Given the description of an element on the screen output the (x, y) to click on. 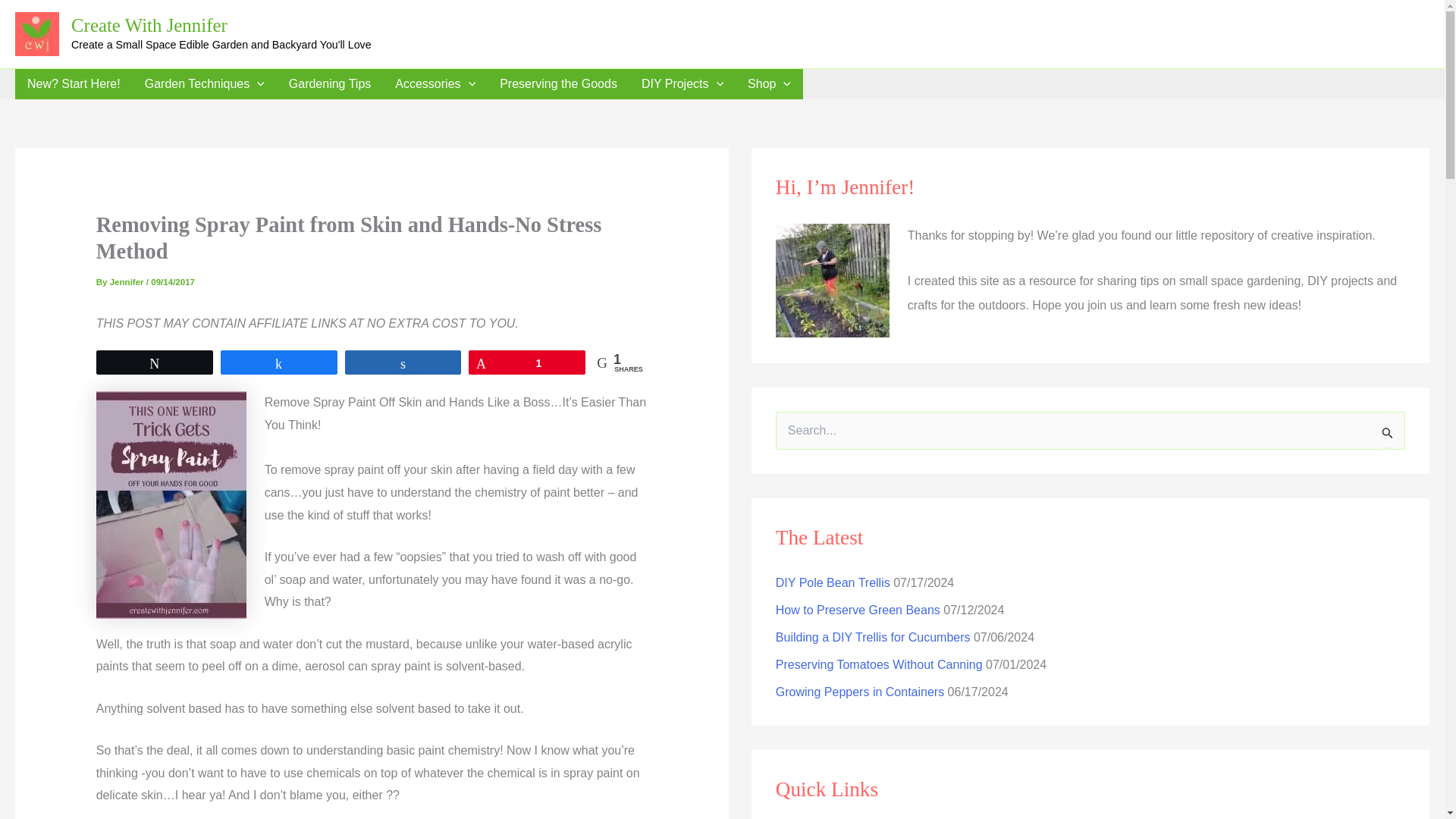
Preserving the Goods (557, 83)
Gardening Tips (330, 83)
Shop (769, 83)
New? Start Here! (73, 83)
Garden Techniques (204, 83)
DIY Projects (681, 83)
Create With Jennifer (149, 25)
Accessories (434, 83)
View all posts by Jennifer (128, 281)
